Given the description of an element on the screen output the (x, y) to click on. 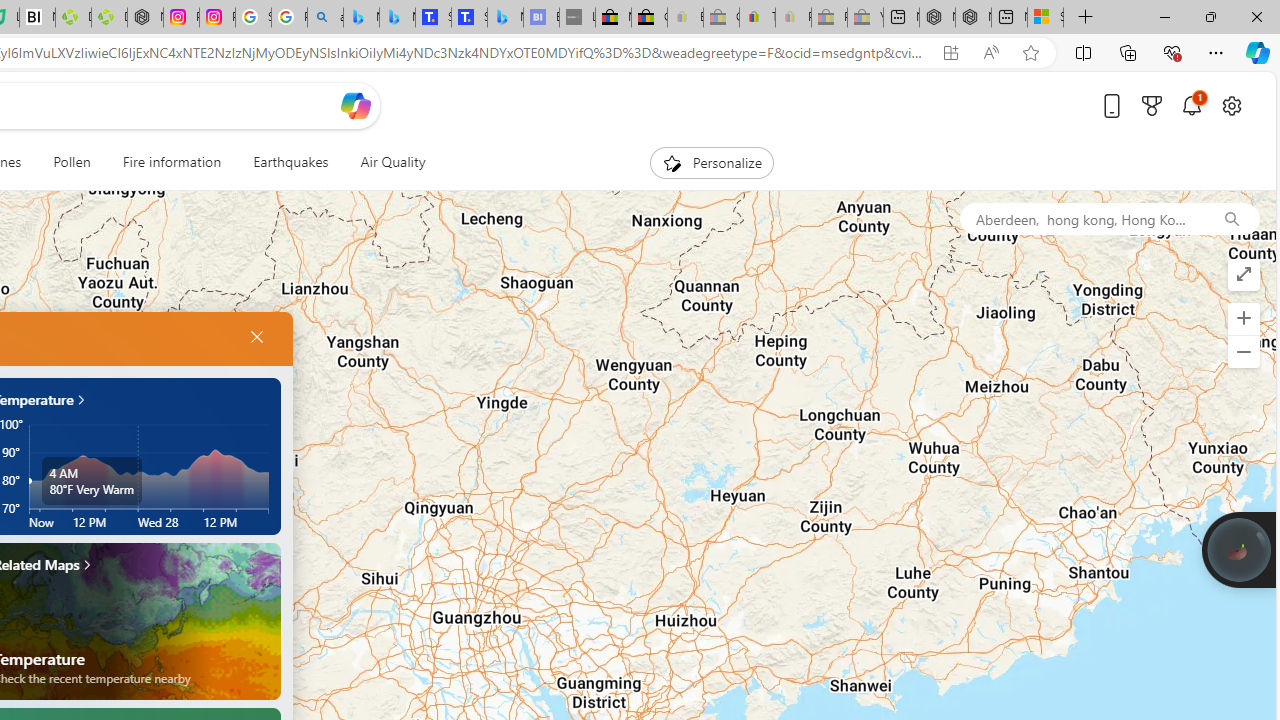
Earthquakes (290, 162)
Microsoft Bing Travel - Flights from Hong Kong to Bangkok (361, 17)
Fire information (171, 162)
Air Quality (385, 162)
Join us in planting real trees to help our planet! (1239, 548)
Sign in to your Microsoft account (1045, 17)
App available. Install Microsoft Start Weather (950, 53)
